Given the description of an element on the screen output the (x, y) to click on. 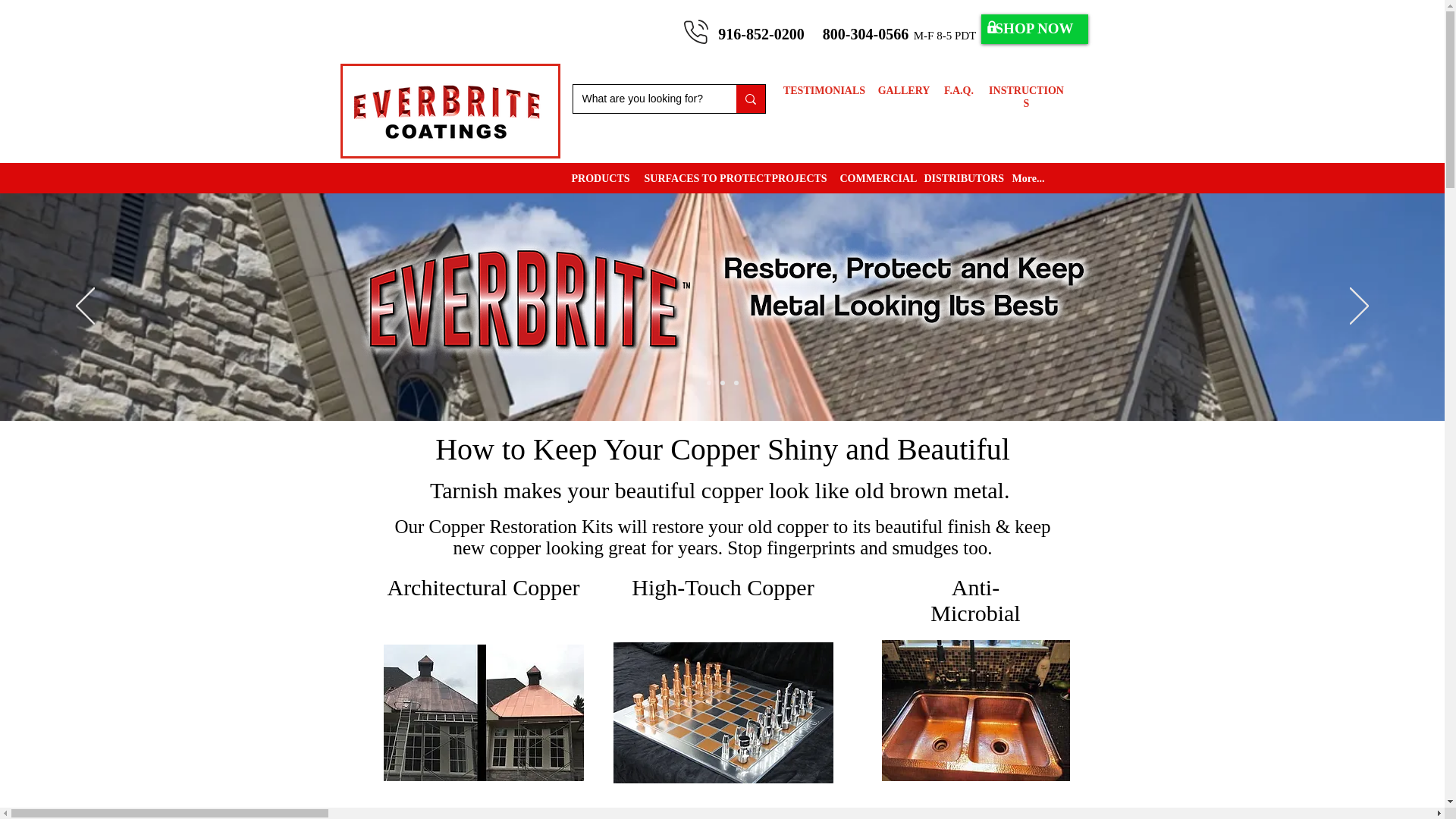
Everbrite Coatings (447, 112)
916-852-0200 (760, 33)
Restore and Protect Copper (903, 289)
SHOP NOW (1034, 29)
SURFACES TO PROTECT (695, 178)
Everbrite (529, 299)
PROJECTS (794, 178)
800-304-0566  (867, 33)
PRODUCTS (595, 178)
